Given the description of an element on the screen output the (x, y) to click on. 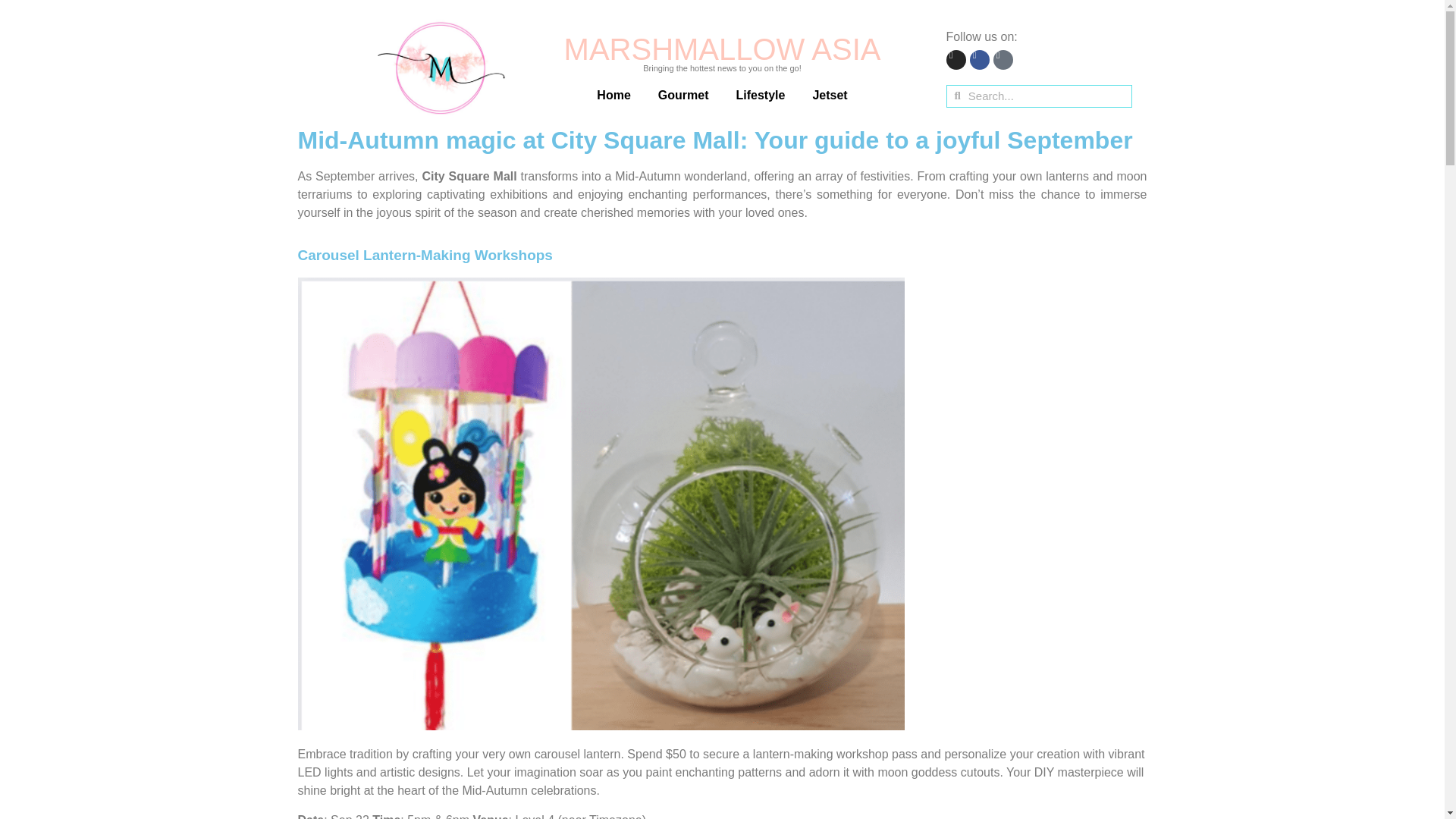
Gourmet (683, 95)
Home (613, 95)
Jetset (829, 95)
Lifestyle (759, 95)
Search (1045, 96)
